Given the description of an element on the screen output the (x, y) to click on. 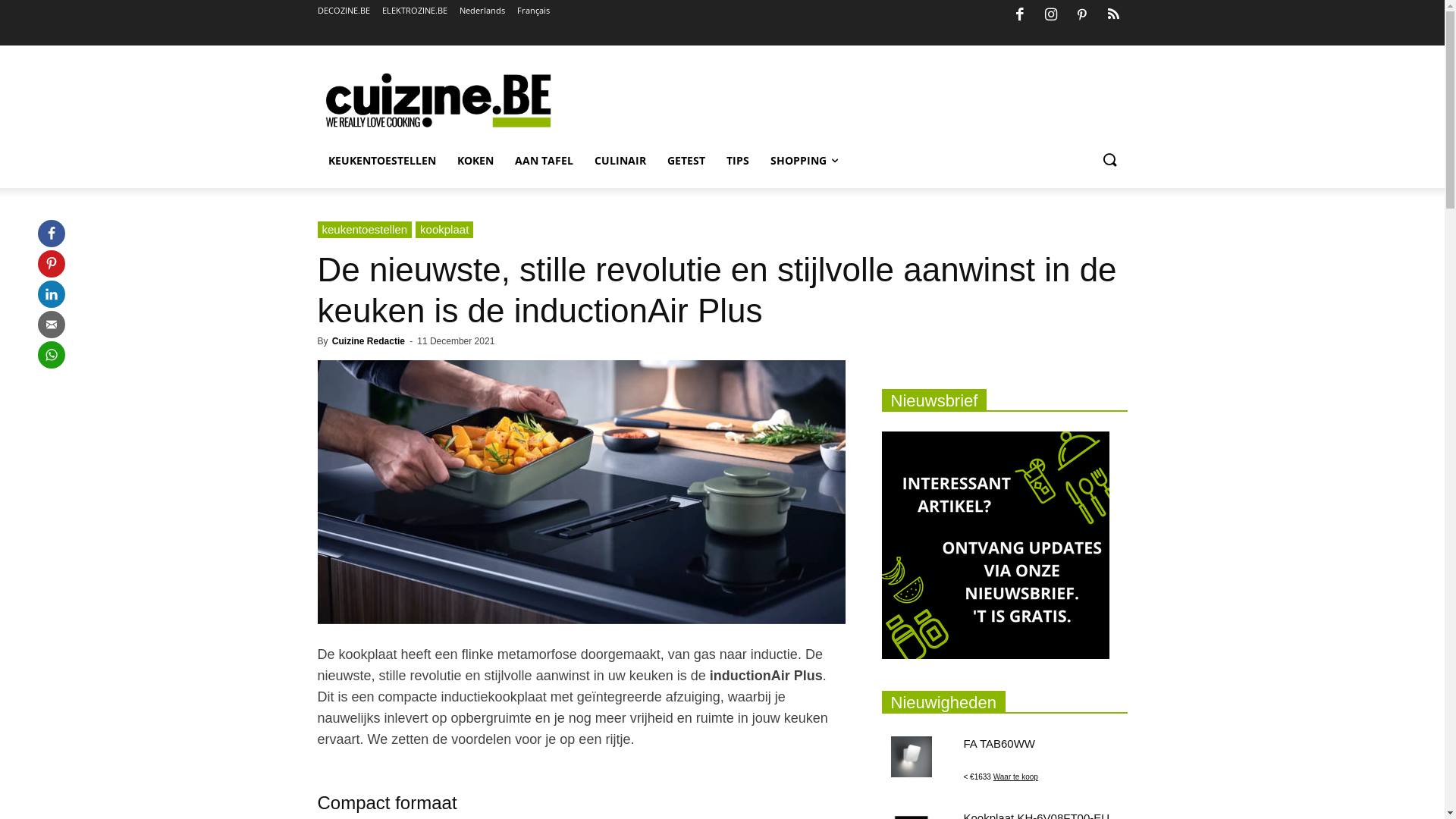
19338752_Kitchen_Placing_Pot_on_hob_Motiv_banner Element type: hover (580, 492)
Waar te koop Element type: text (1015, 776)
DECOZINE.BE Element type: text (342, 10)
Nederlands Element type: text (482, 10)
kookplaat Element type: text (444, 229)
SHOPPING Element type: text (803, 160)
GETEST Element type: text (685, 160)
FA TAB60WW Element type: text (998, 743)
AAN TAFEL Element type: text (543, 160)
KOKEN Element type: text (474, 160)
ELEKTROZINE.BE Element type: text (414, 10)
KEUKENTOESTELLEN Element type: text (380, 160)
keukentoestellen Element type: text (363, 229)
CULINAIR Element type: text (619, 160)
Cuizine Redactie Element type: text (368, 340)
TIPS Element type: text (737, 160)
